Given the description of an element on the screen output the (x, y) to click on. 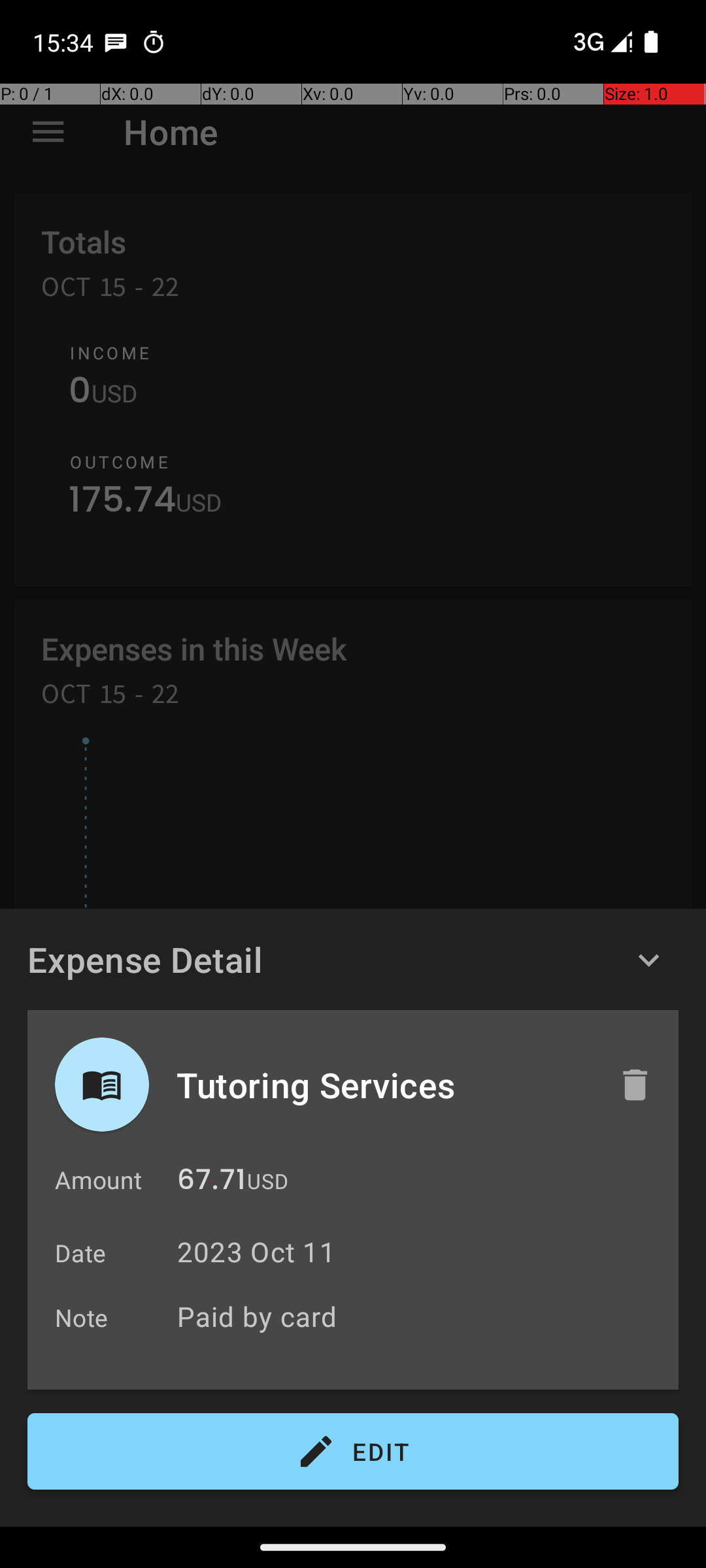
Tutoring Services Element type: android.widget.TextView (383, 1084)
67.71 Element type: android.widget.TextView (211, 1182)
